Given the description of an element on the screen output the (x, y) to click on. 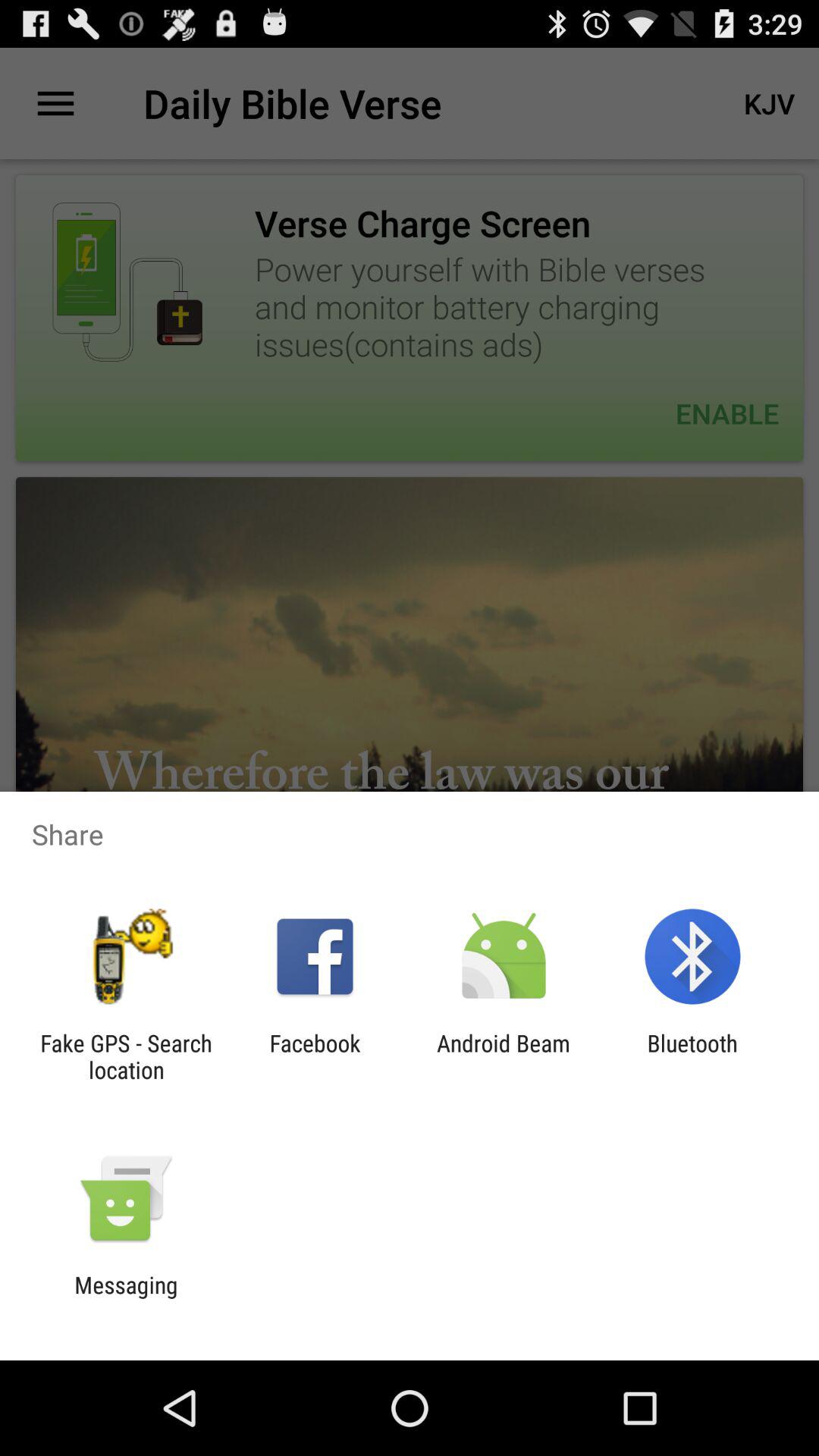
scroll until the bluetooth app (692, 1056)
